Given the description of an element on the screen output the (x, y) to click on. 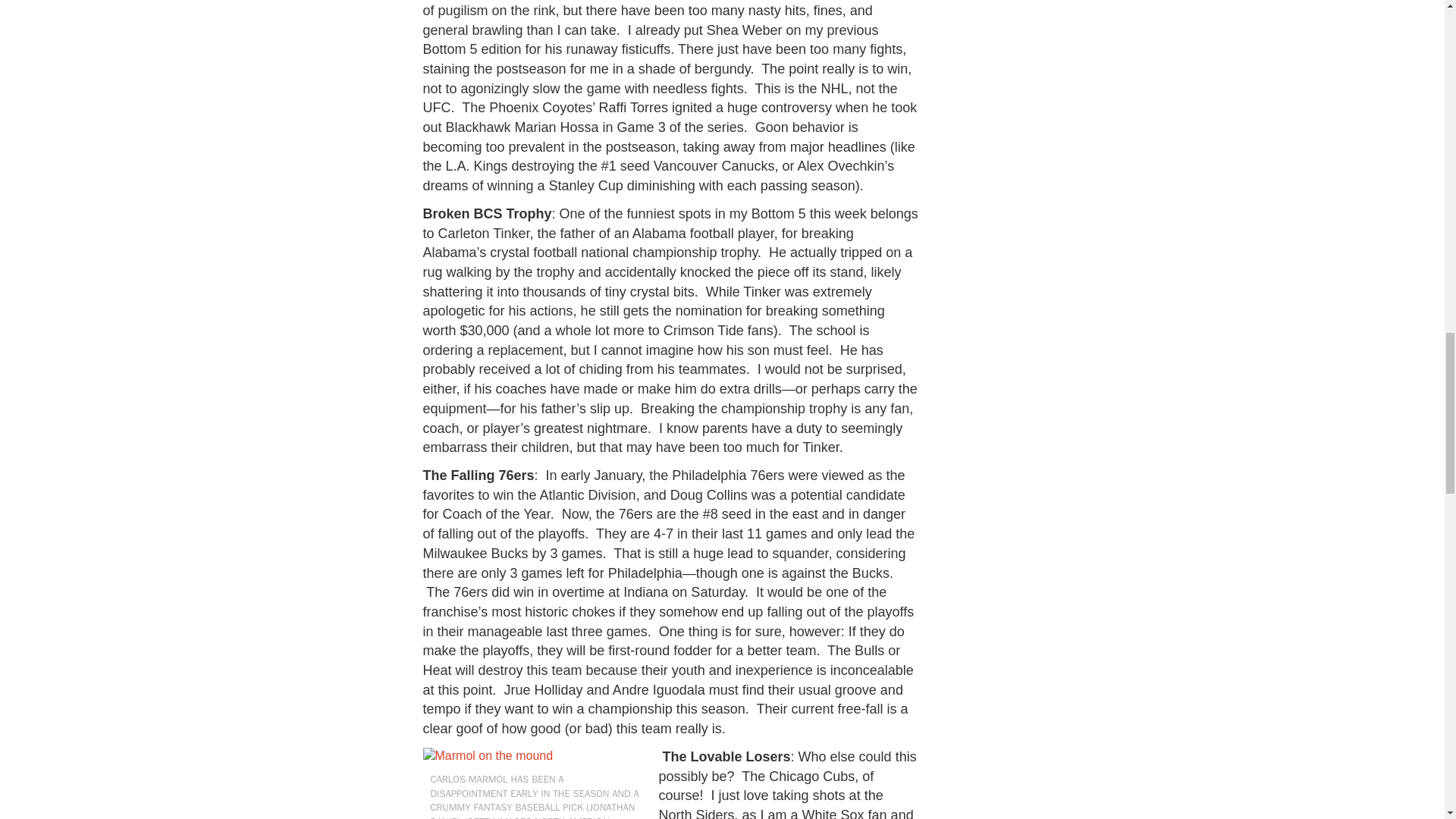
Marmol on the mound (488, 755)
